Given the description of an element on the screen output the (x, y) to click on. 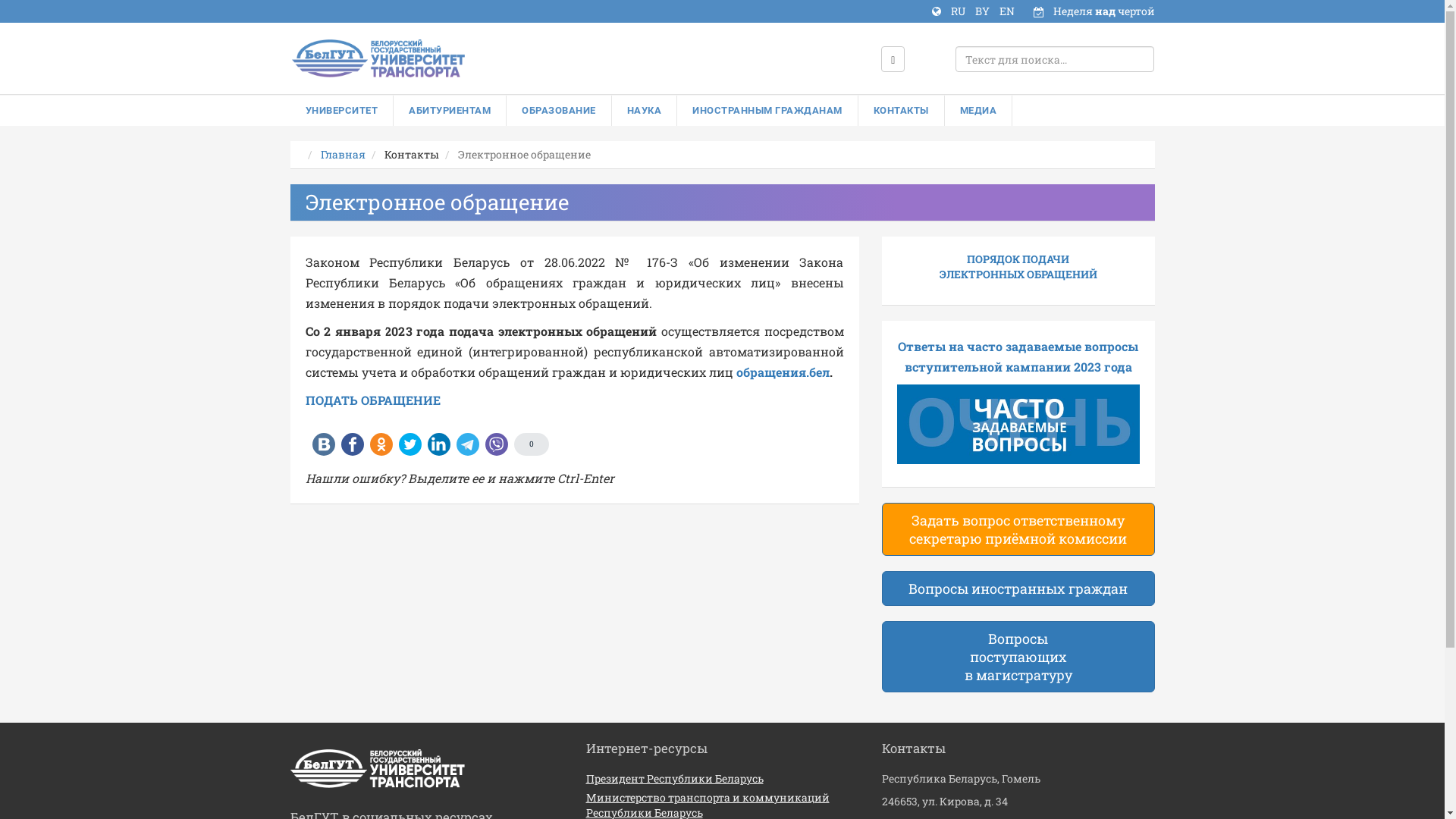
RU Element type: text (958, 10)
BY Element type: text (983, 10)
LinkedIn Element type: hover (438, 444)
Twitter Element type: hover (409, 444)
Viber Element type: hover (496, 444)
EN Element type: text (1006, 10)
Telegram Element type: hover (467, 444)
FaceBook Element type: hover (352, 444)
0 Element type: text (531, 444)
